Given the description of an element on the screen output the (x, y) to click on. 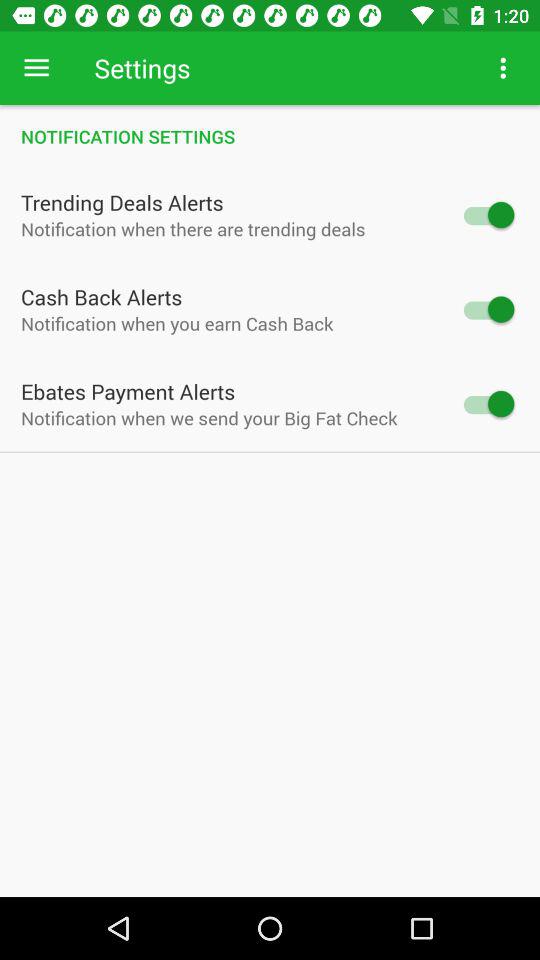
turn this setting off (487, 214)
